Given the description of an element on the screen output the (x, y) to click on. 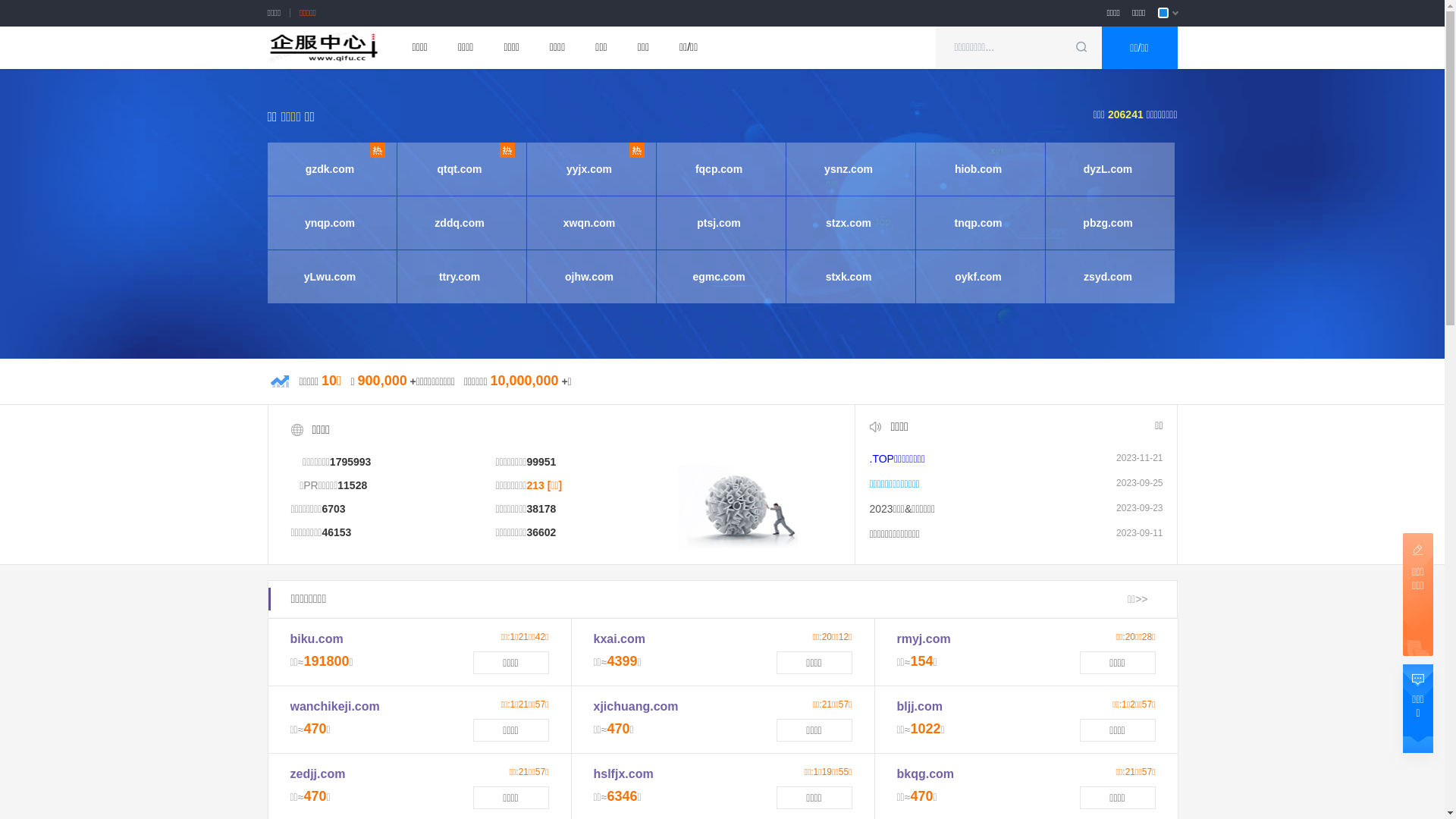
zsyd.com Element type: text (1107, 276)
stzx.com Element type: text (848, 222)
oykf.com Element type: text (978, 276)
yyjx.com Element type: text (588, 168)
stxk.com Element type: text (848, 276)
99951 Element type: text (540, 461)
dyzL.com Element type: text (1107, 168)
tnqp.com Element type: text (978, 222)
11528 Element type: text (352, 485)
ynqp.com Element type: text (329, 222)
gzdk.com Element type: text (329, 168)
ptsj.com Element type: text (719, 222)
1795993 Element type: text (350, 461)
ttry.com Element type: text (459, 276)
zddq.com Element type: text (459, 222)
egmc.com Element type: text (719, 276)
qtqt.com Element type: text (459, 168)
pbzg.com Element type: text (1107, 222)
ojhw.com Element type: text (588, 276)
36602 Element type: text (540, 532)
ysnz.com Element type: text (848, 168)
46153 Element type: text (336, 532)
fqcp.com Element type: text (719, 168)
38178 Element type: text (540, 508)
6703 Element type: text (333, 508)
yLwu.com Element type: text (329, 276)
xwqn.com Element type: text (588, 222)
hiob.com Element type: text (978, 168)
